Given the description of an element on the screen output the (x, y) to click on. 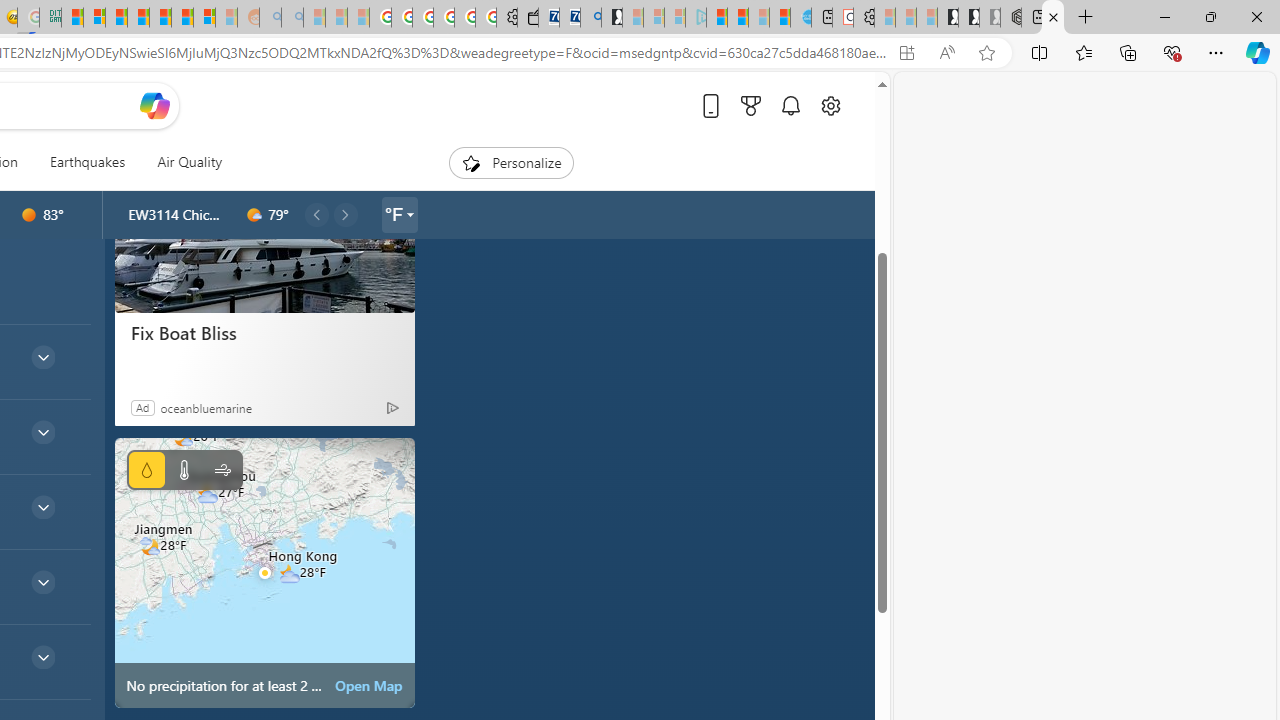
Kinda Frugal - MSN (182, 17)
Temperature (184, 470)
common/carouselChevron (345, 214)
d0000 (29, 215)
d1000 (253, 215)
